Given the description of an element on the screen output the (x, y) to click on. 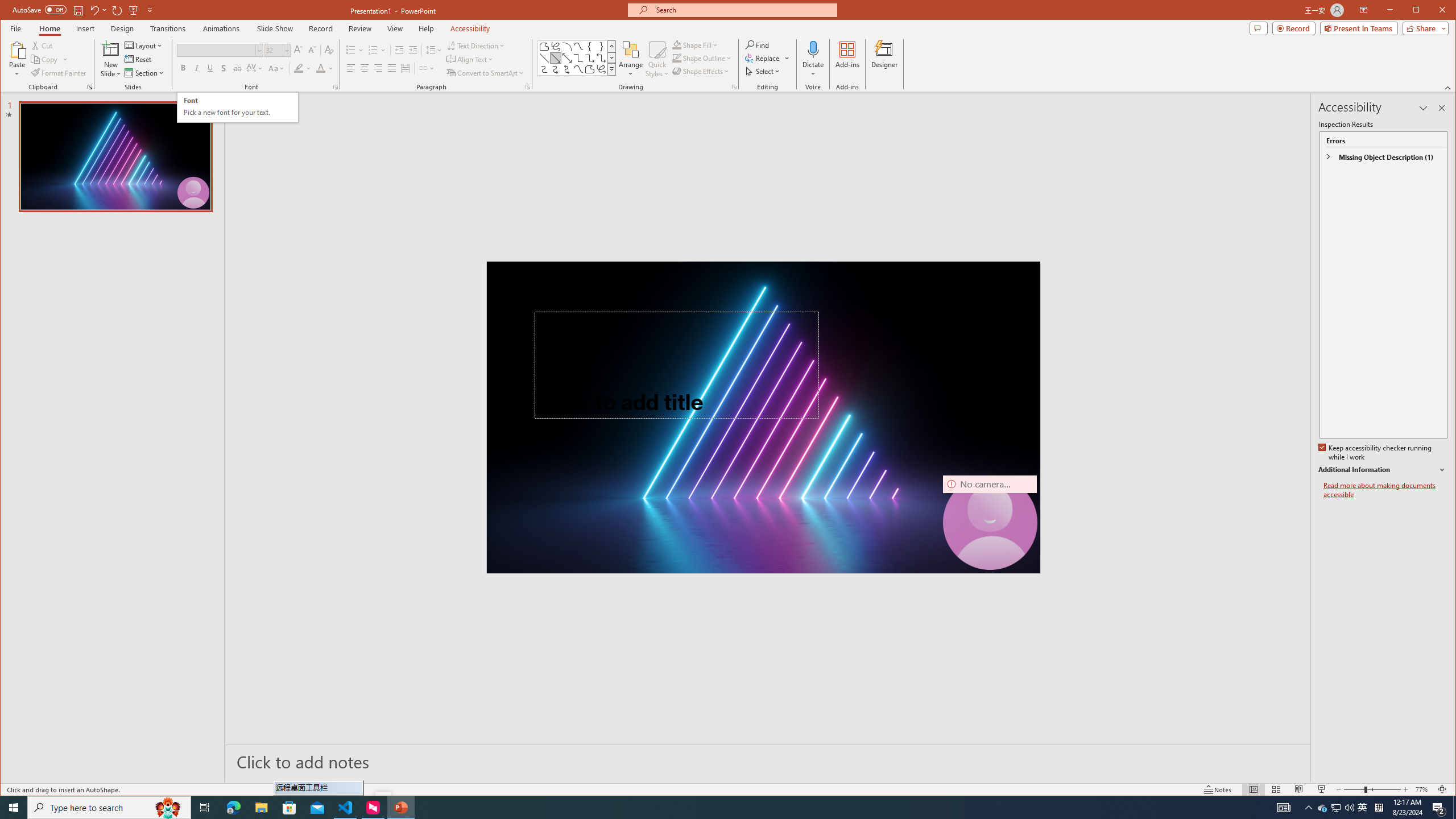
Neon laser lights aligned to form a triangle (762, 417)
